Given the description of an element on the screen output the (x, y) to click on. 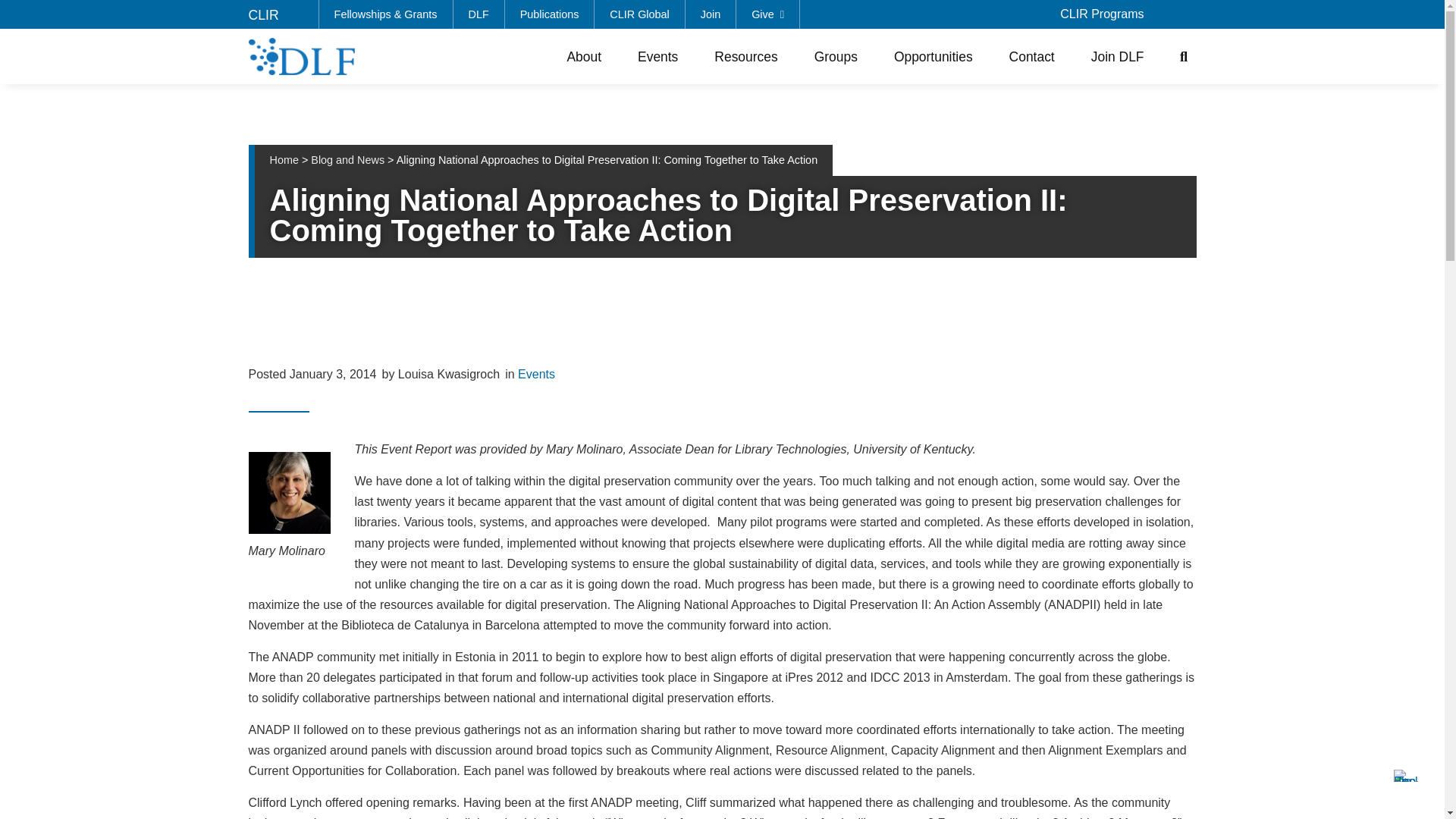
DLF (478, 14)
About (583, 56)
Join (710, 14)
CLIR Global (639, 14)
CLIR Programs (1101, 13)
Resources (745, 56)
CLIR (263, 15)
Events (657, 56)
Publications (550, 14)
Give (767, 14)
